Given the description of an element on the screen output the (x, y) to click on. 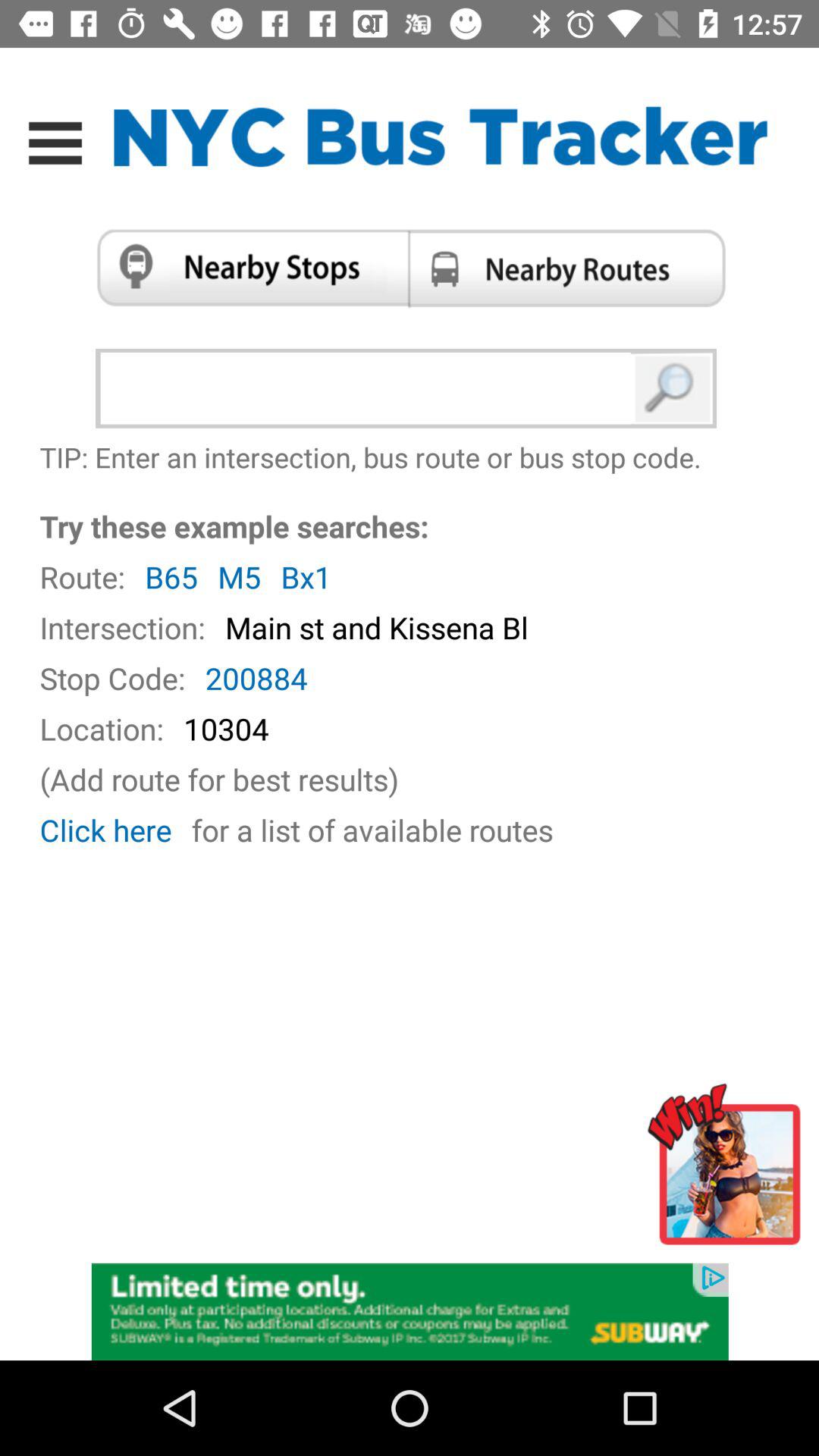
go to another site (729, 1170)
